Given the description of an element on the screen output the (x, y) to click on. 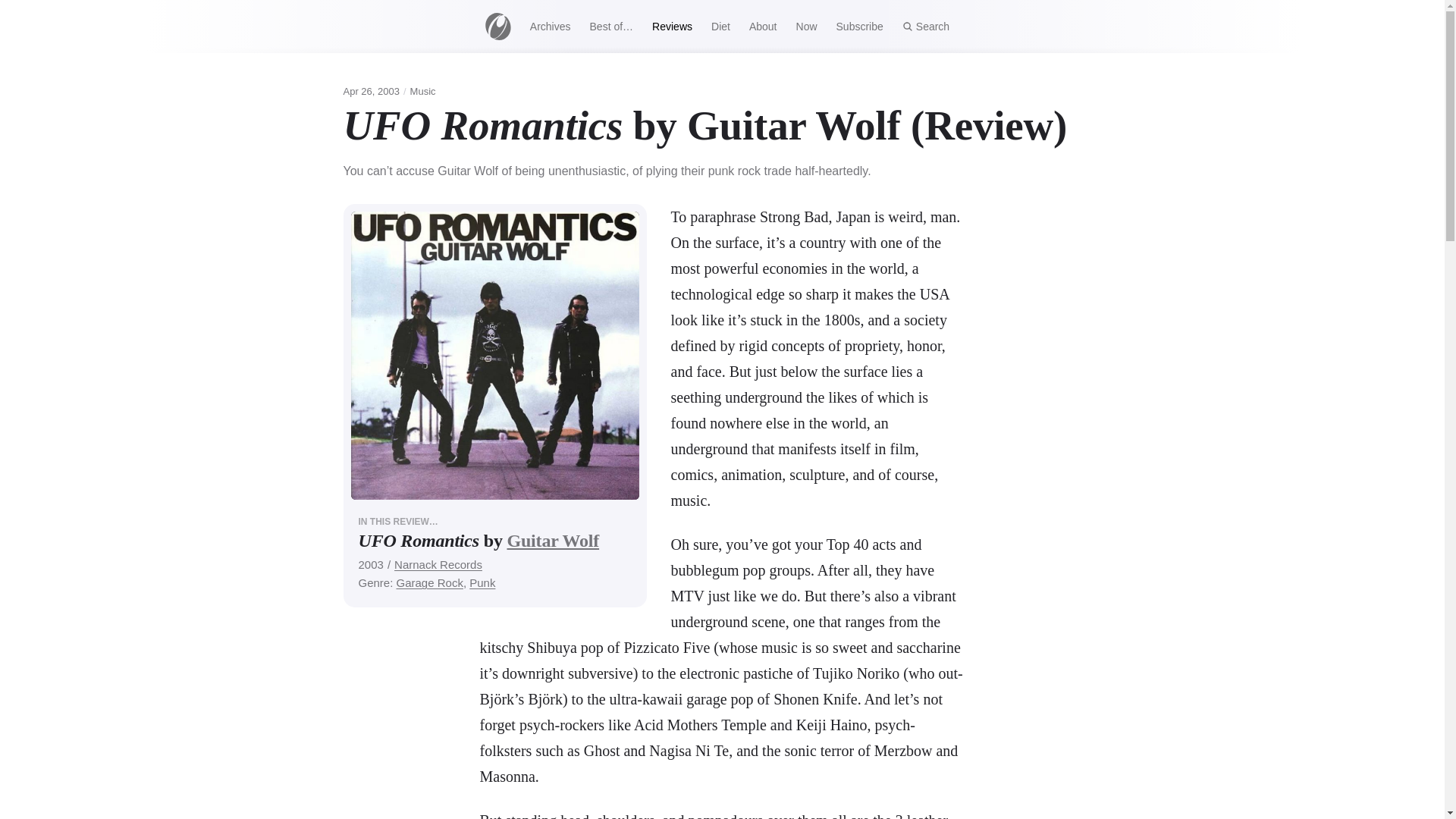
Narnack Records (437, 563)
Reviews (672, 26)
Return to the Opus homepage (497, 26)
Archives (549, 26)
Search (925, 26)
Subscribe (859, 26)
About (762, 26)
Apr 26, 2003 (370, 91)
Garage Rock (429, 582)
Diet (720, 26)
View all reviews of Narnack Records titles (437, 563)
Guitar Wolf (552, 540)
Punk (481, 582)
Now (806, 26)
View all reviews of Guitar Wolf (552, 540)
